Given the description of an element on the screen output the (x, y) to click on. 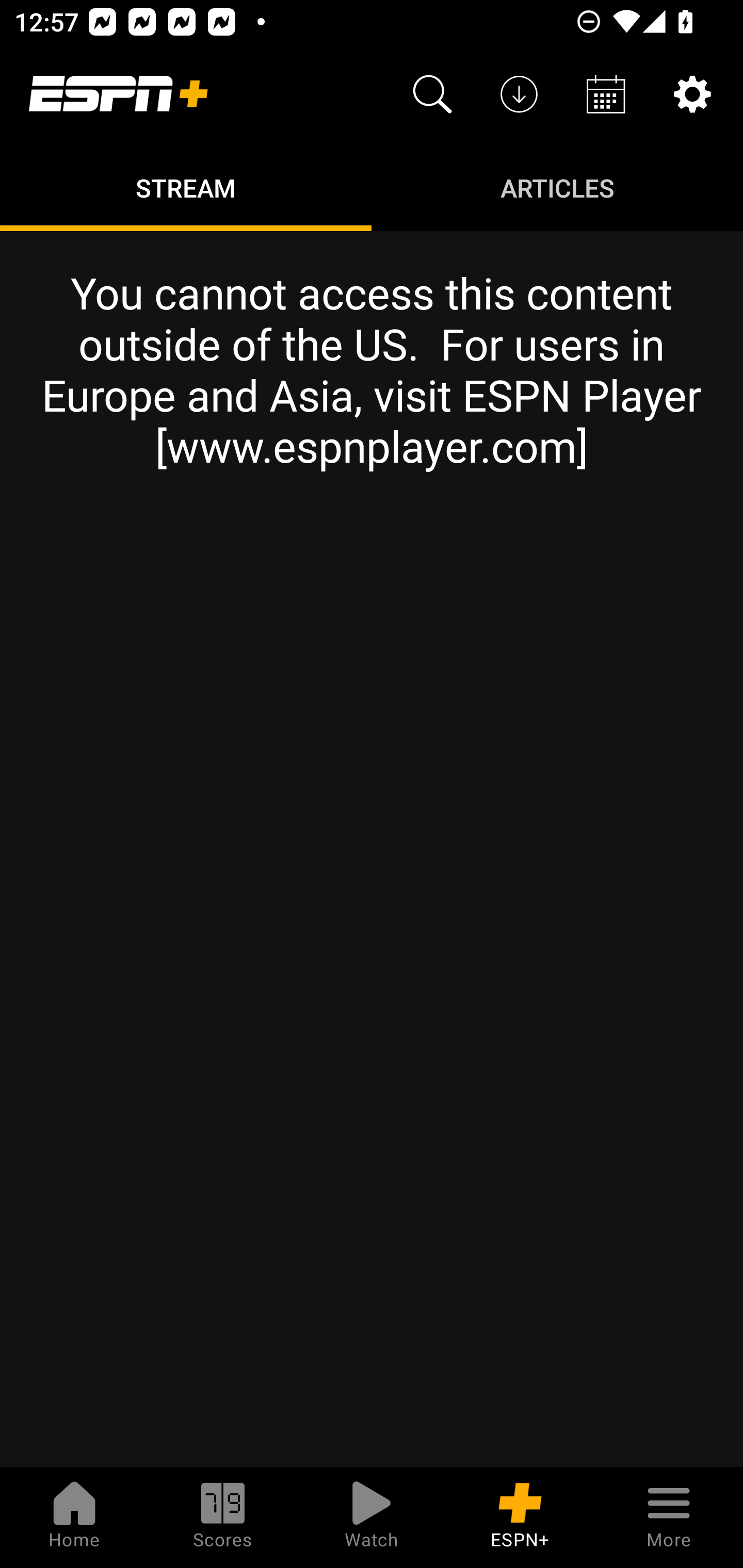
Search (432, 93)
Downloads (518, 93)
Schedule (605, 93)
Settings (692, 93)
Articles ARTICLES (557, 187)
Home (74, 1517)
Scores (222, 1517)
Watch (371, 1517)
More (668, 1517)
